Given the description of an element on the screen output the (x, y) to click on. 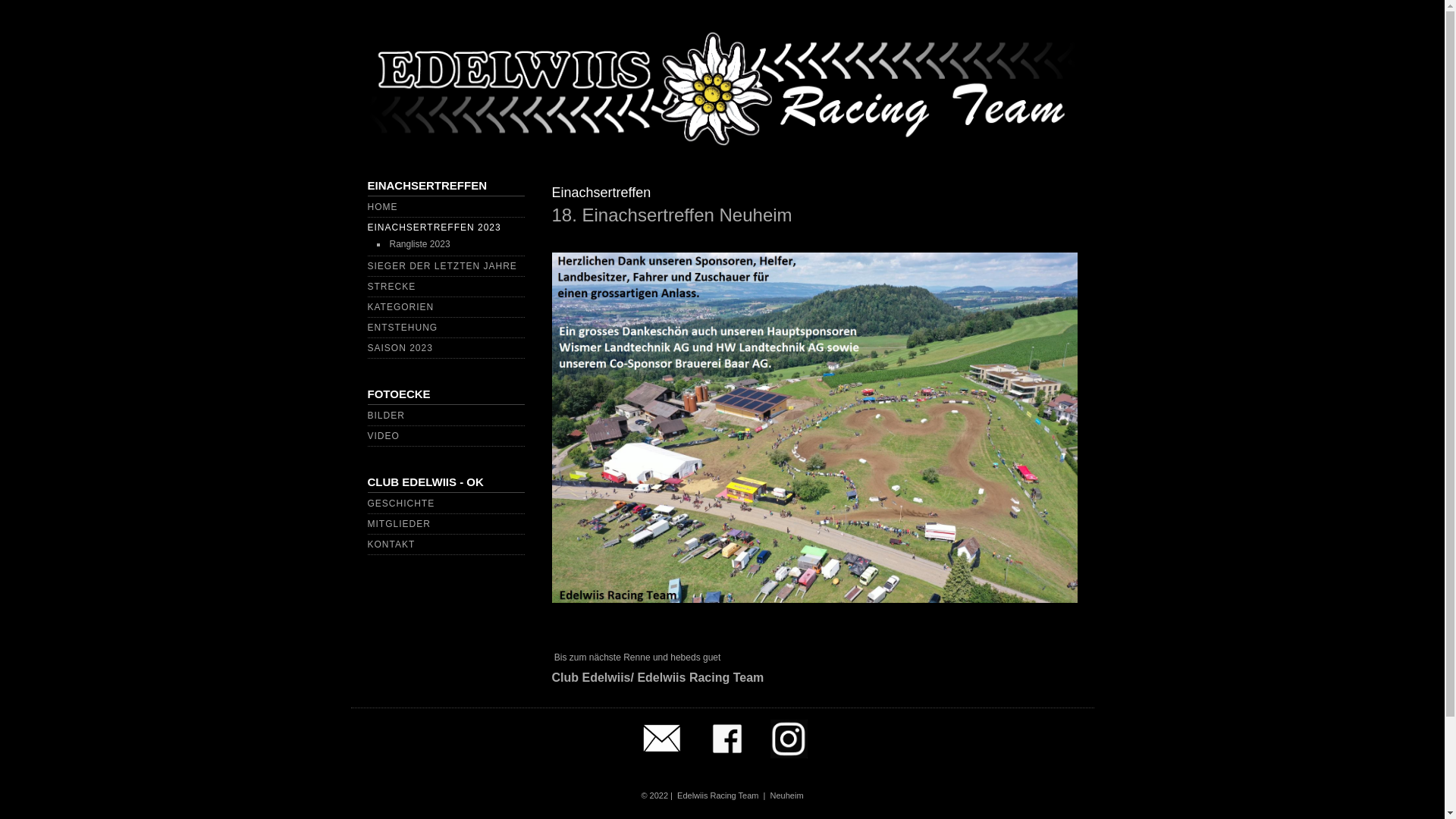
ENTSTEHUNG Element type: text (402, 327)
MITGLIEDER Element type: text (398, 523)
Einachsertreffen Element type: text (601, 192)
GESCHICHTE Element type: text (400, 503)
HOME Element type: text (382, 206)
Rangliste 2023 Element type: text (419, 243)
EINACHSERTREFFEN 2023 Element type: text (433, 227)
KONTAKT Element type: text (390, 544)
SIEGER DER LETZTEN JAHRE Element type: text (441, 265)
STRECKE Element type: text (391, 286)
BILDER Element type: text (385, 415)
KATEGORIEN Element type: text (400, 306)
VIDEO Element type: text (382, 435)
SAISON 2023 Element type: text (399, 347)
